Given the description of an element on the screen output the (x, y) to click on. 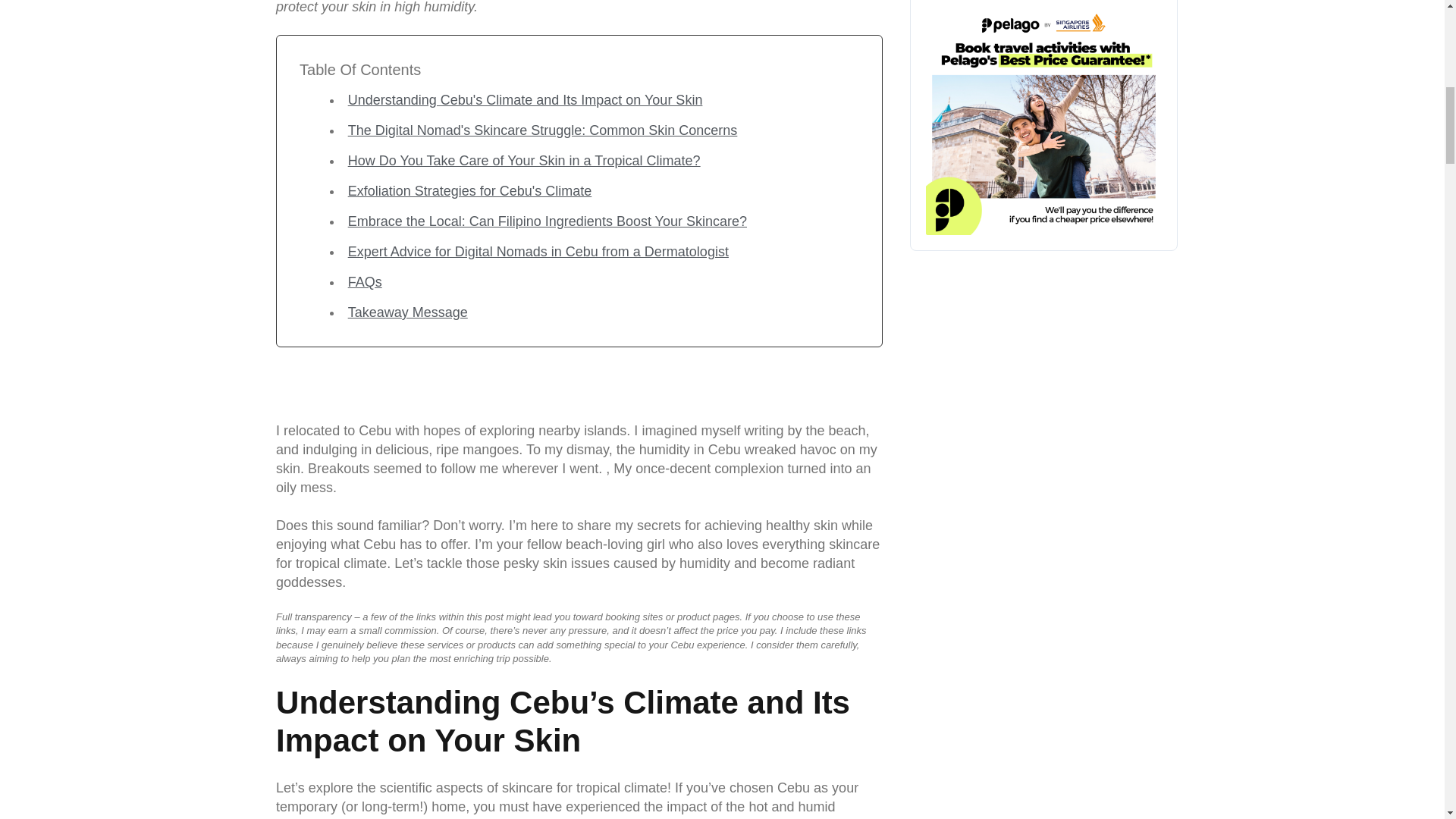
Exfoliation Strategies for Cebu's Climate (469, 191)
Takeaway Message (407, 312)
FAQs (364, 281)
How Do You Take Care of Your Skin in a Tropical Climate? (523, 160)
The Digital Nomad's Skincare Struggle: Common Skin Concerns (542, 130)
Understanding Cebu's Climate and Its Impact on Your Skin (525, 99)
